Given the description of an element on the screen output the (x, y) to click on. 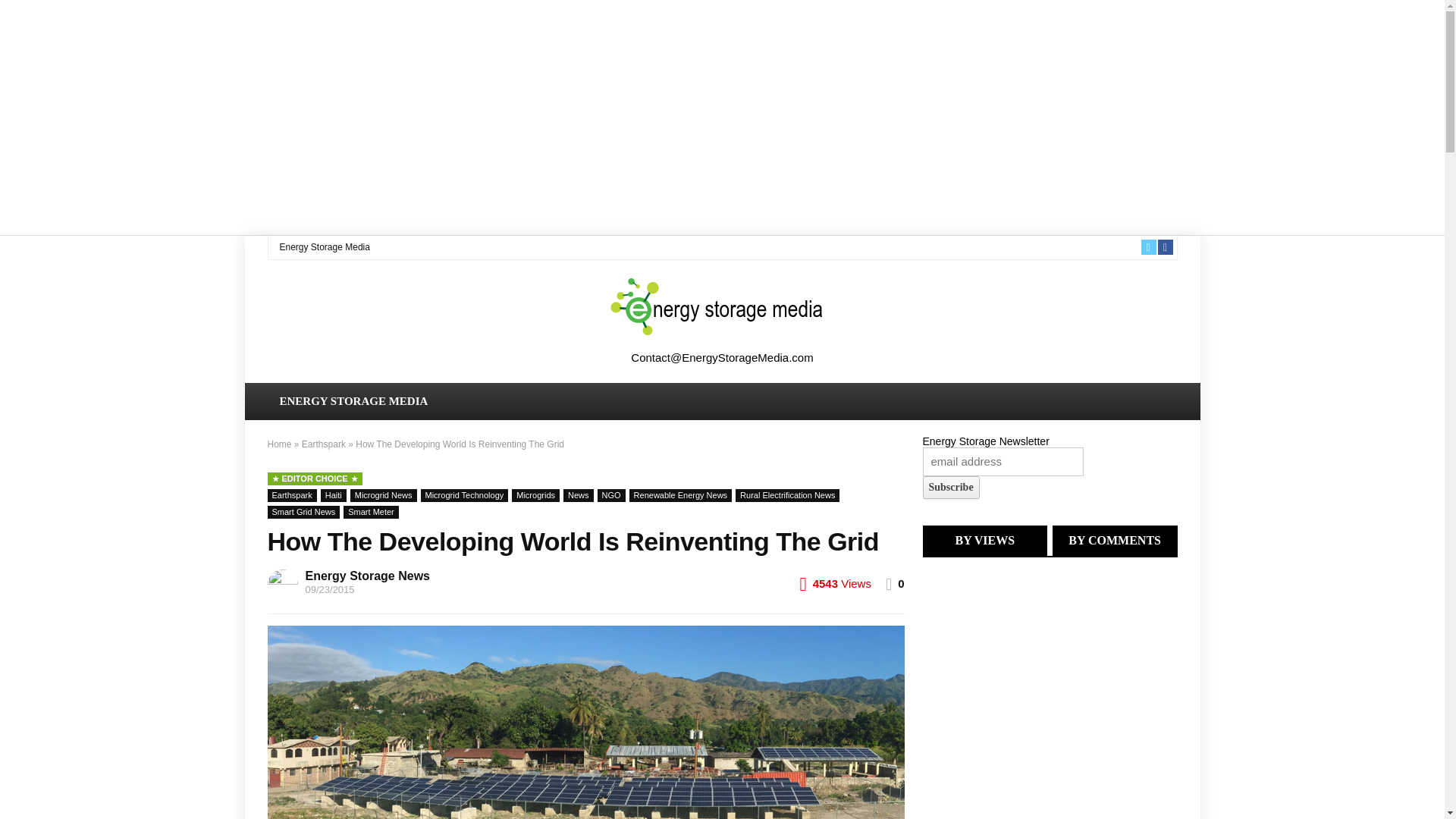
View all posts in Microgrids (535, 495)
Earthspark (323, 443)
Haiti (333, 495)
Rural Electrification News (787, 495)
Microgrids (535, 495)
View all posts in Earthspark (290, 495)
Earthspark (290, 495)
Energy Storage News (366, 575)
View all posts in Renewable Energy News (680, 495)
View all posts in Haiti (333, 495)
Smart Grid News (302, 512)
Home (278, 443)
Microgrid Technology (464, 495)
View all posts in NGO (611, 495)
Microgrid News (383, 495)
